Given the description of an element on the screen output the (x, y) to click on. 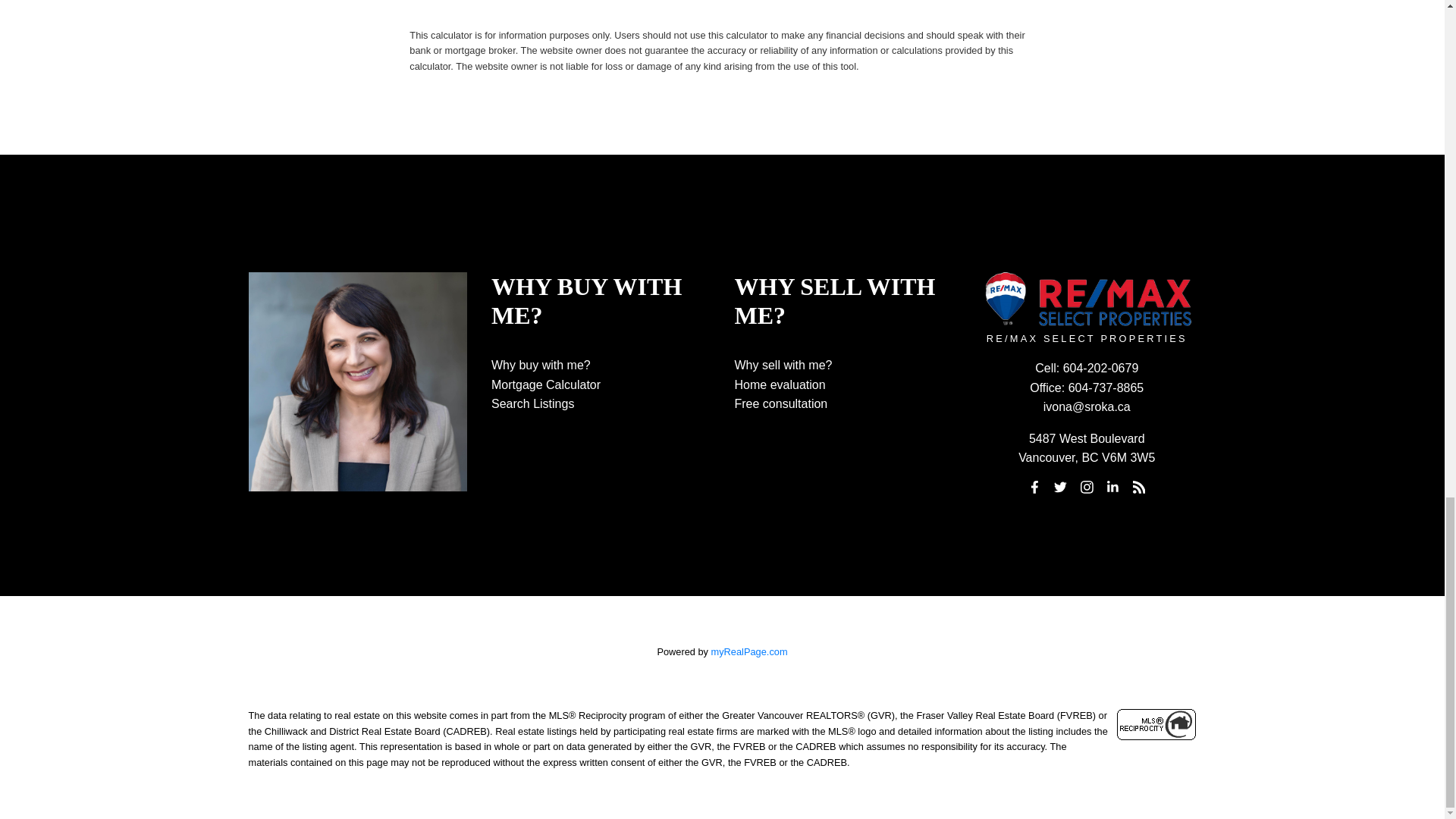
linkedin (1113, 486)
Search Listings (532, 403)
Mortgage Calculator (545, 384)
Cell: 604-202-0679 (1086, 368)
instagram (1086, 486)
Blog (1139, 486)
Office: 604-737-8865 (1086, 388)
Home evaluation (779, 384)
Facebook (1034, 486)
Why buy with me? (541, 364)
Free consultation (780, 403)
Twitter (1060, 486)
Why sell with me? (782, 364)
